Given the description of an element on the screen output the (x, y) to click on. 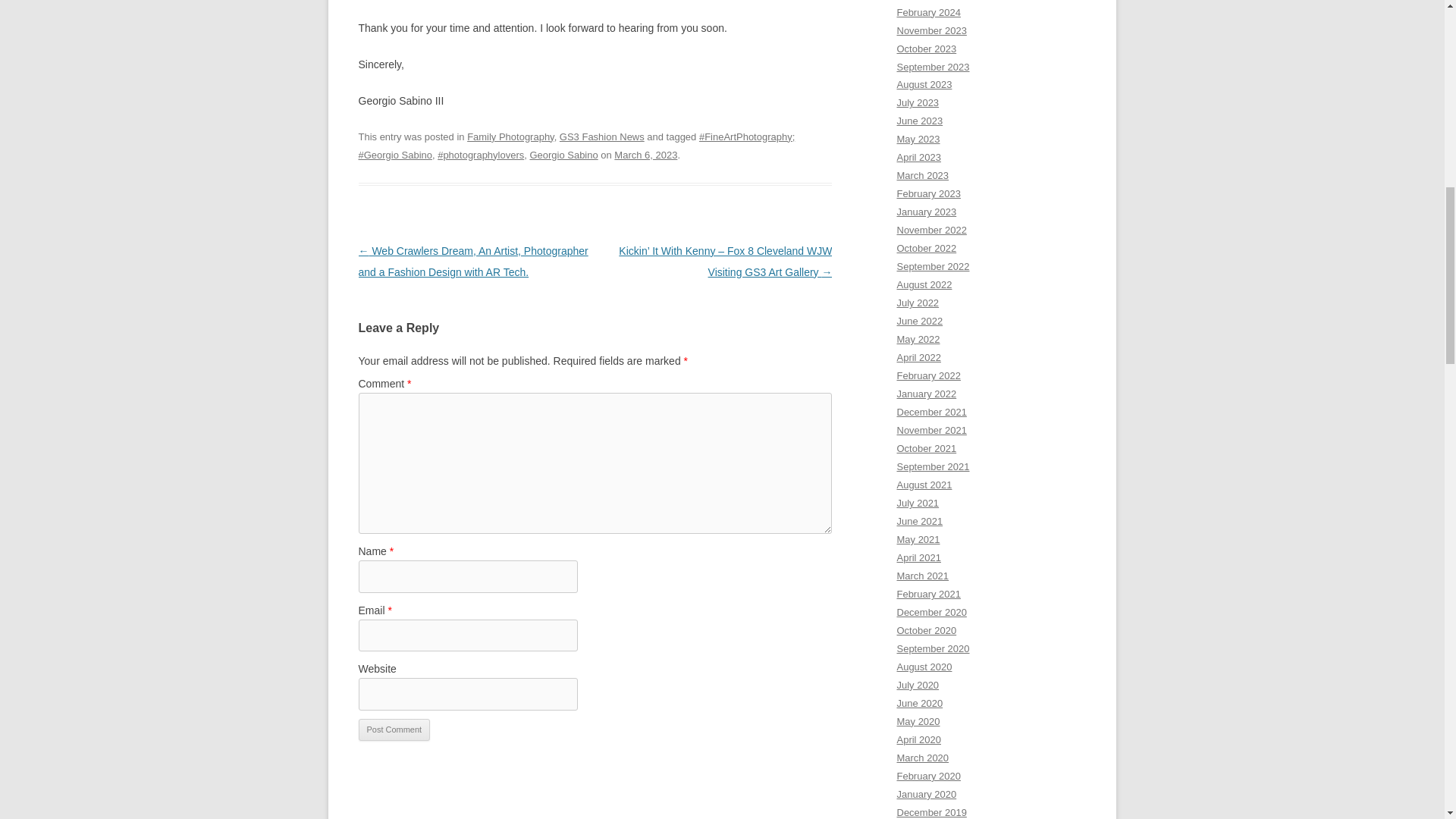
GS3 Fashion News (602, 136)
Georgio Sabino (562, 154)
August 2023 (924, 84)
October 2023 (926, 48)
Post Comment (393, 730)
Post Comment (393, 730)
March 6, 2023 (645, 154)
September 2023 (932, 66)
November 2023 (931, 30)
1:37 am (645, 154)
Family Photography (510, 136)
February 2024 (927, 12)
